Given the description of an element on the screen output the (x, y) to click on. 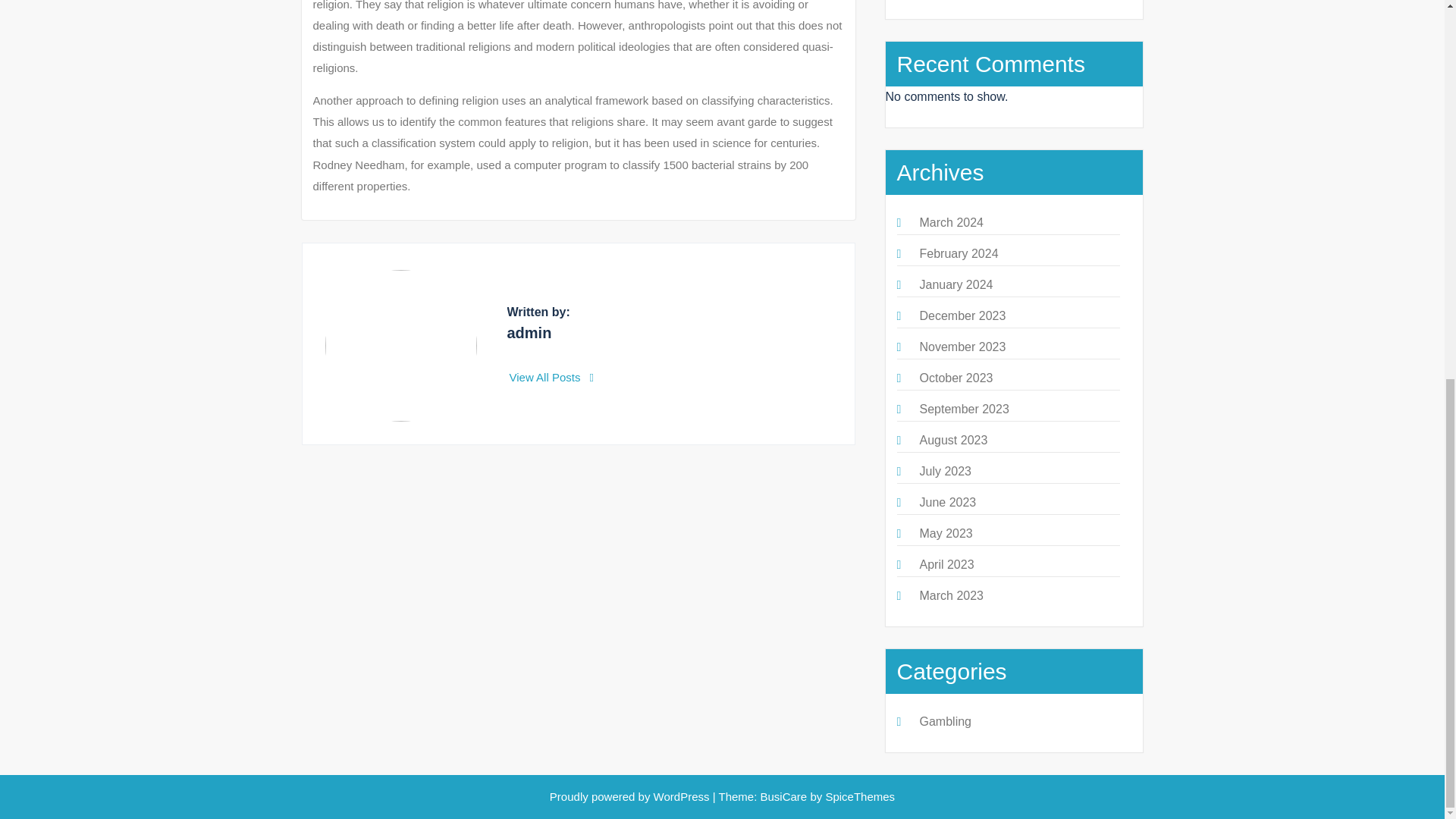
December 2023 (962, 315)
May 2023 (945, 533)
March 2023 (951, 594)
Gambling (944, 721)
BusiCare (784, 796)
June 2023 (946, 502)
SpiceThemes (860, 796)
March 2024 (951, 222)
August 2023 (952, 440)
April 2023 (946, 563)
September 2023 (963, 408)
October 2023 (955, 377)
View All Posts (551, 377)
WordPress (681, 796)
February 2024 (957, 253)
